Given the description of an element on the screen output the (x, y) to click on. 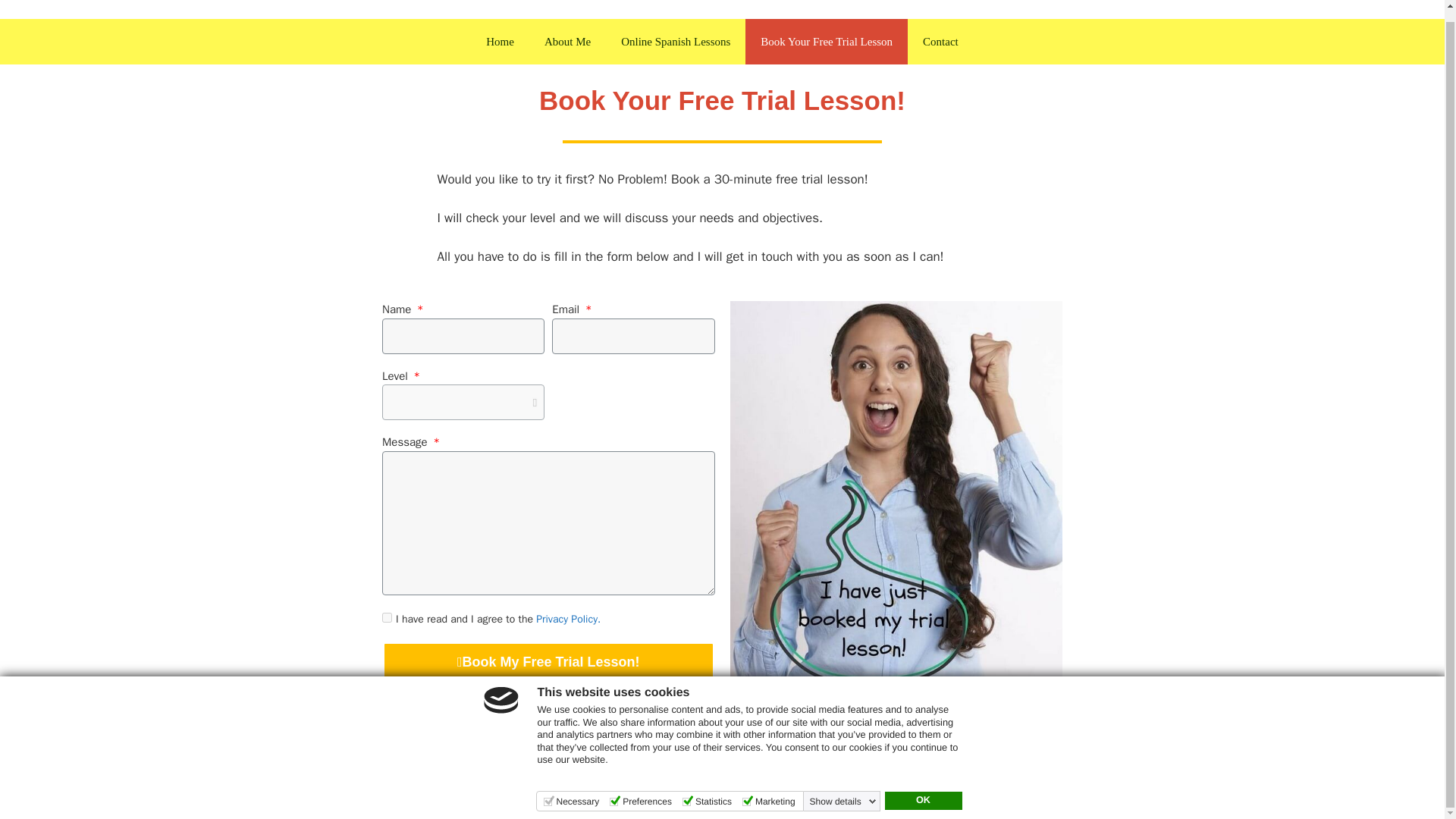
Privacy Policy (847, 795)
Cookie Policy (929, 795)
Home (499, 41)
Book Your Free Trial Lesson (826, 41)
Privacy Policy. (567, 618)
on (386, 617)
Book My Free Trial Lesson! (547, 661)
